Given the description of an element on the screen output the (x, y) to click on. 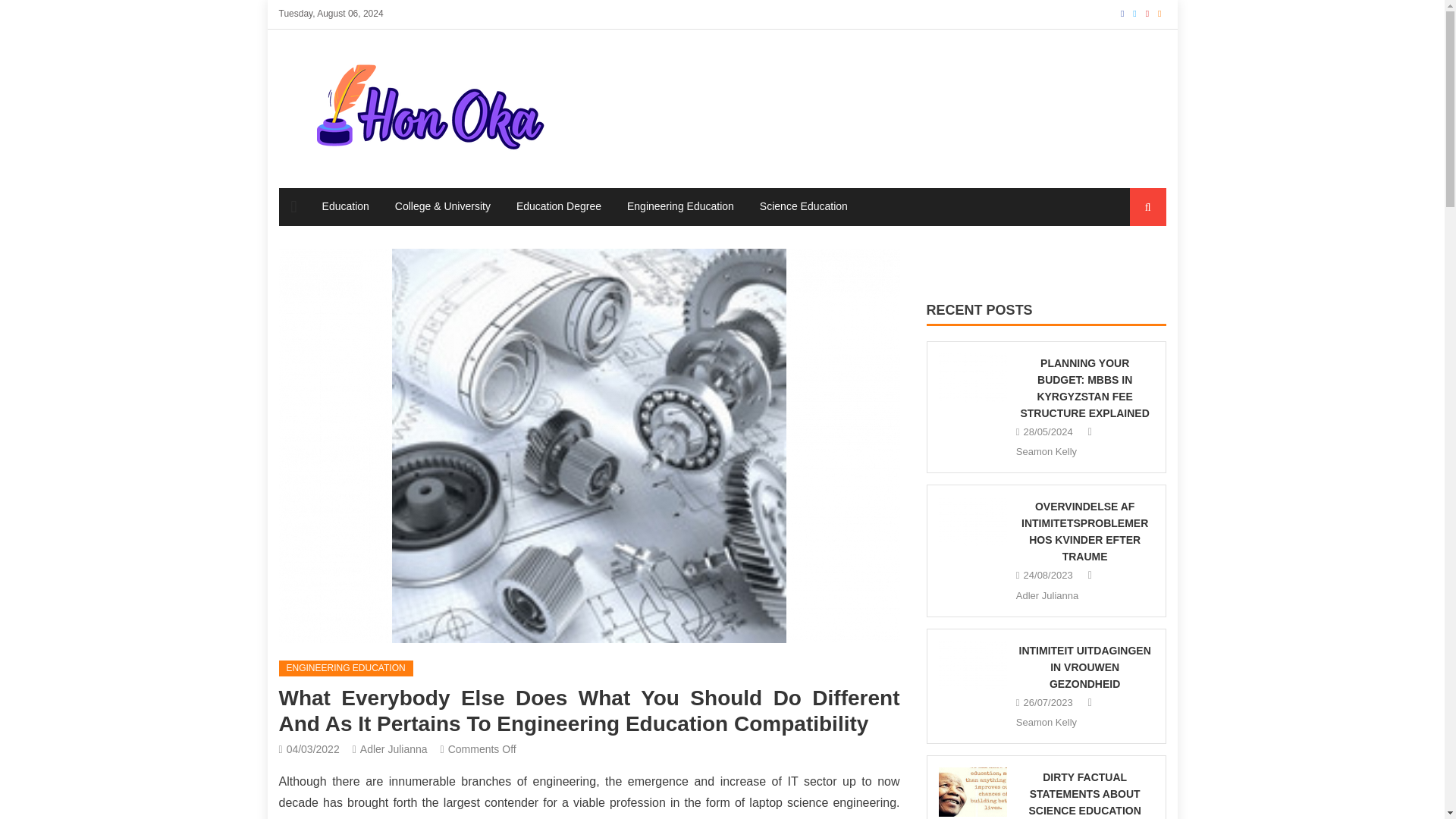
Engineering Education (680, 206)
Overvindelse af Intimitetsproblemer hos Kvinder efter Traume (973, 521)
Education Degree (558, 206)
Dirty Factual Statements About Science Education Unveiled (973, 791)
Education (345, 206)
ENGINEERING EDUCATION (346, 668)
Search (1133, 263)
Science Education (803, 206)
